Given the description of an element on the screen output the (x, y) to click on. 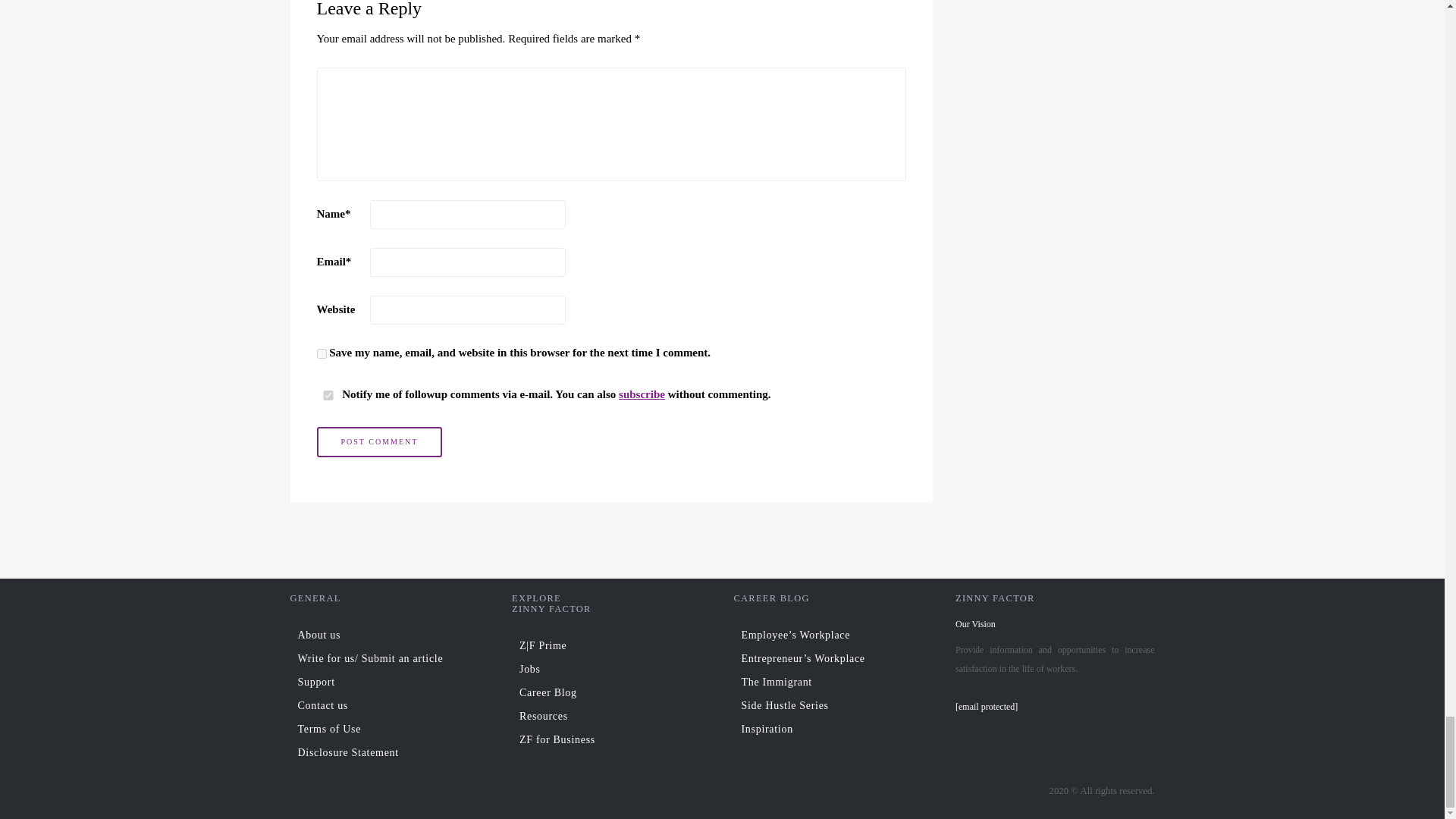
yes (321, 353)
Post comment (379, 441)
yes (328, 395)
